Given the description of an element on the screen output the (x, y) to click on. 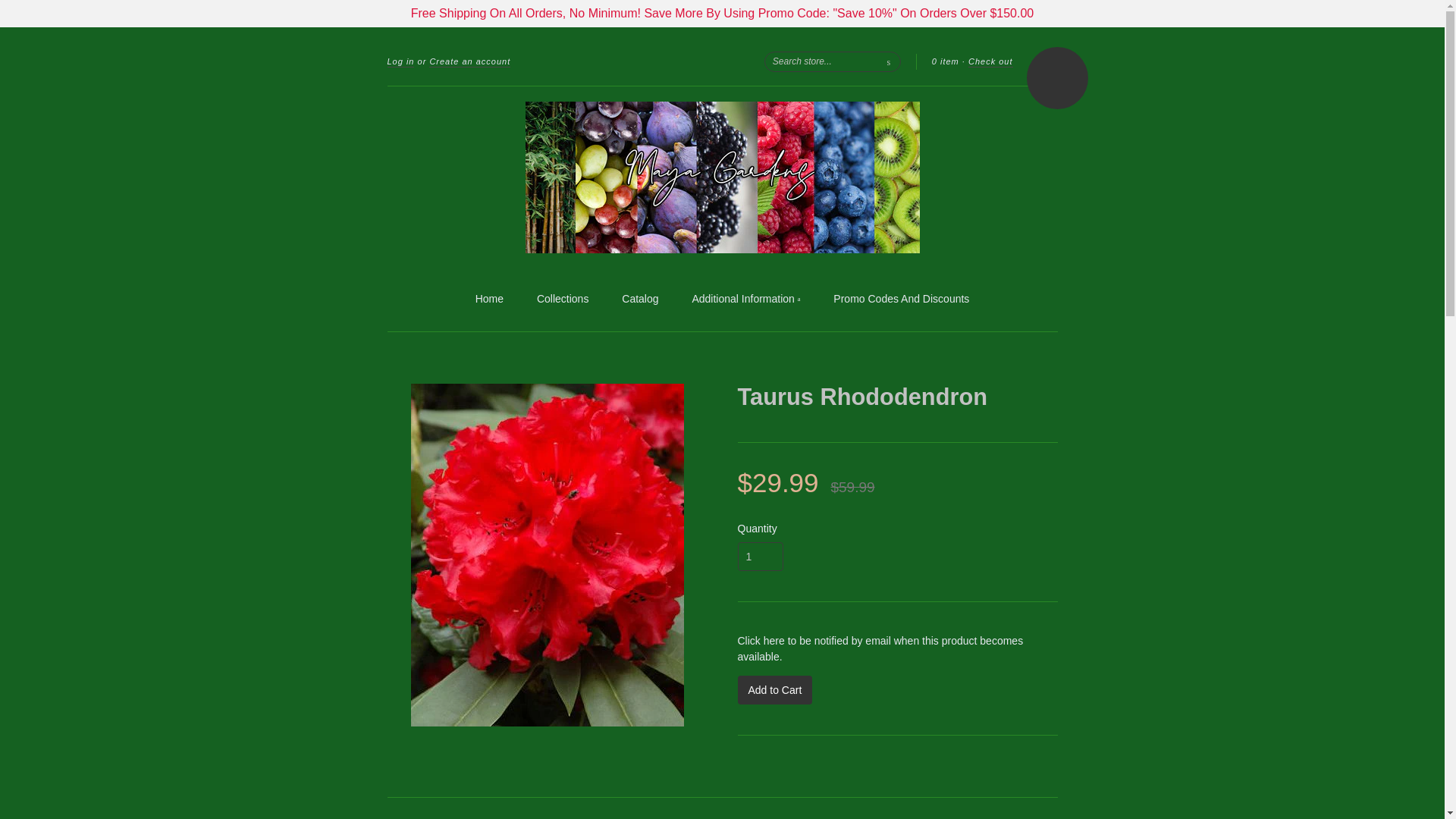
Additional Information (745, 299)
Promo Codes And Discounts (900, 299)
Search (888, 61)
Create an account (470, 61)
1 (759, 556)
Log in (400, 61)
Add to Cart (774, 689)
0 item (945, 61)
Catalog (639, 299)
Check out (990, 61)
Home (489, 299)
Collections (562, 299)
